Given the description of an element on the screen output the (x, y) to click on. 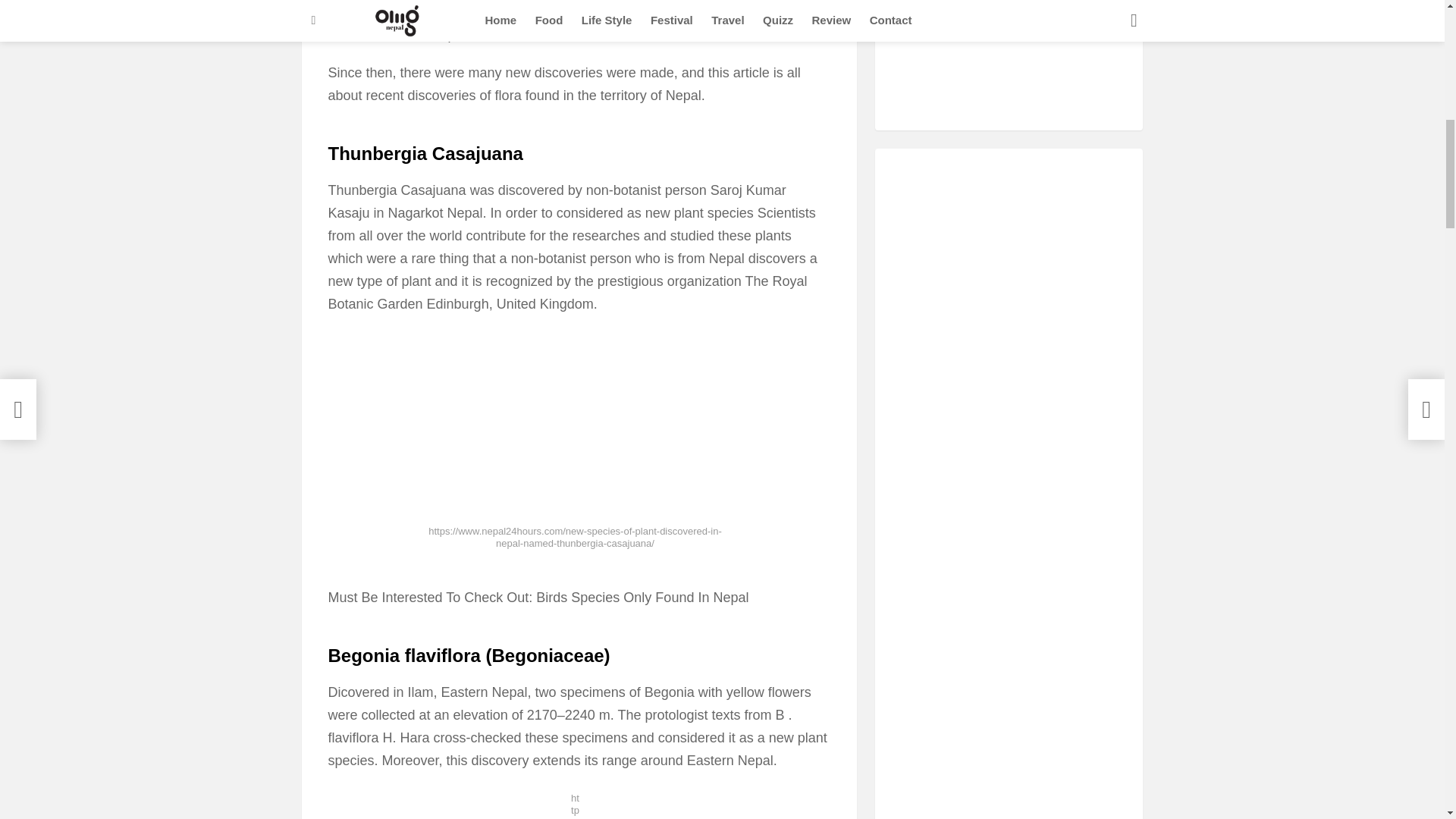
Advertisement (1009, 46)
Birds Species Only Found In Nepal (641, 597)
